Given the description of an element on the screen output the (x, y) to click on. 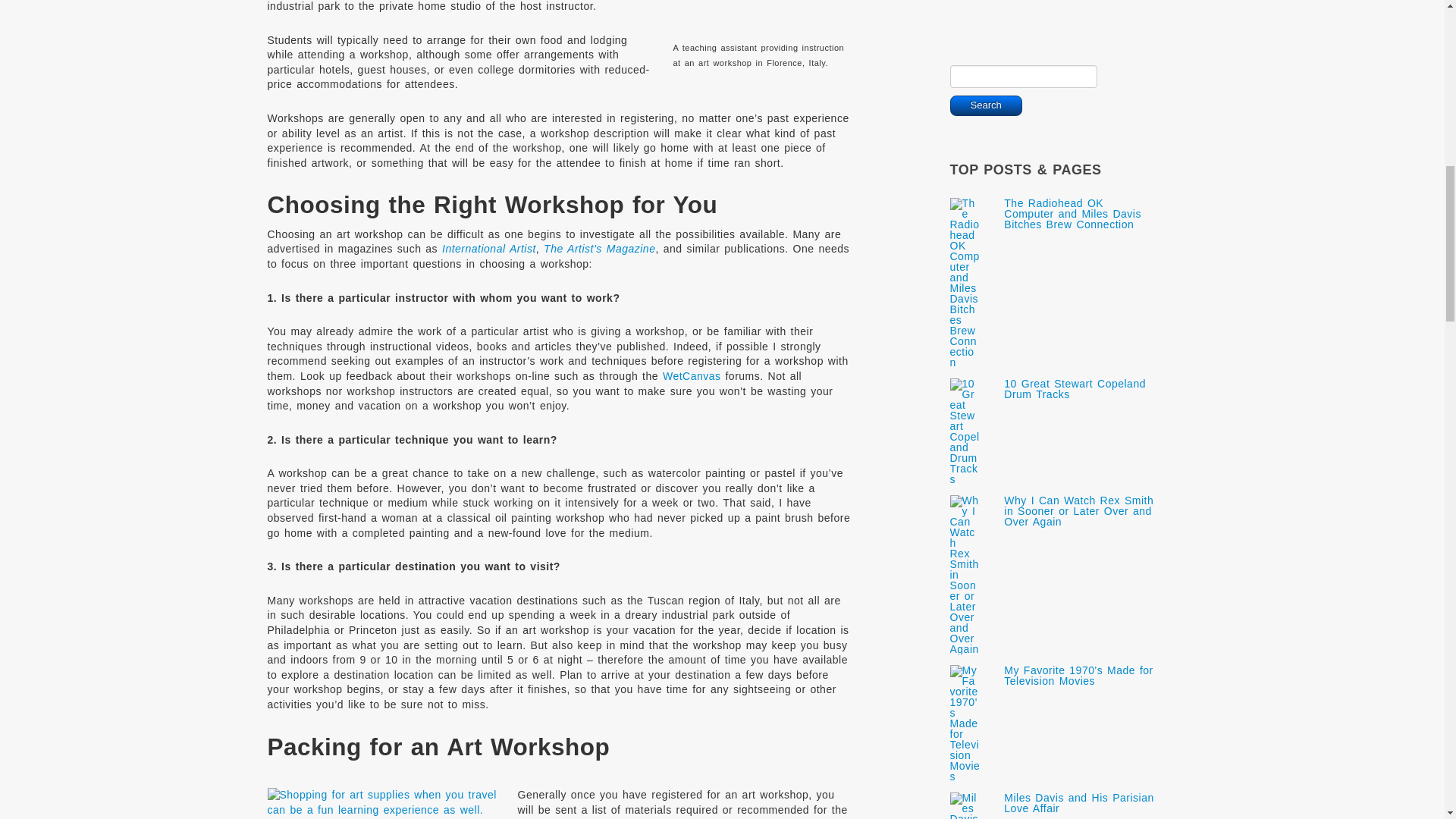
International Artist Magazine (488, 248)
Search (985, 105)
The Artist's Magazine (599, 248)
